Given the description of an element on the screen output the (x, y) to click on. 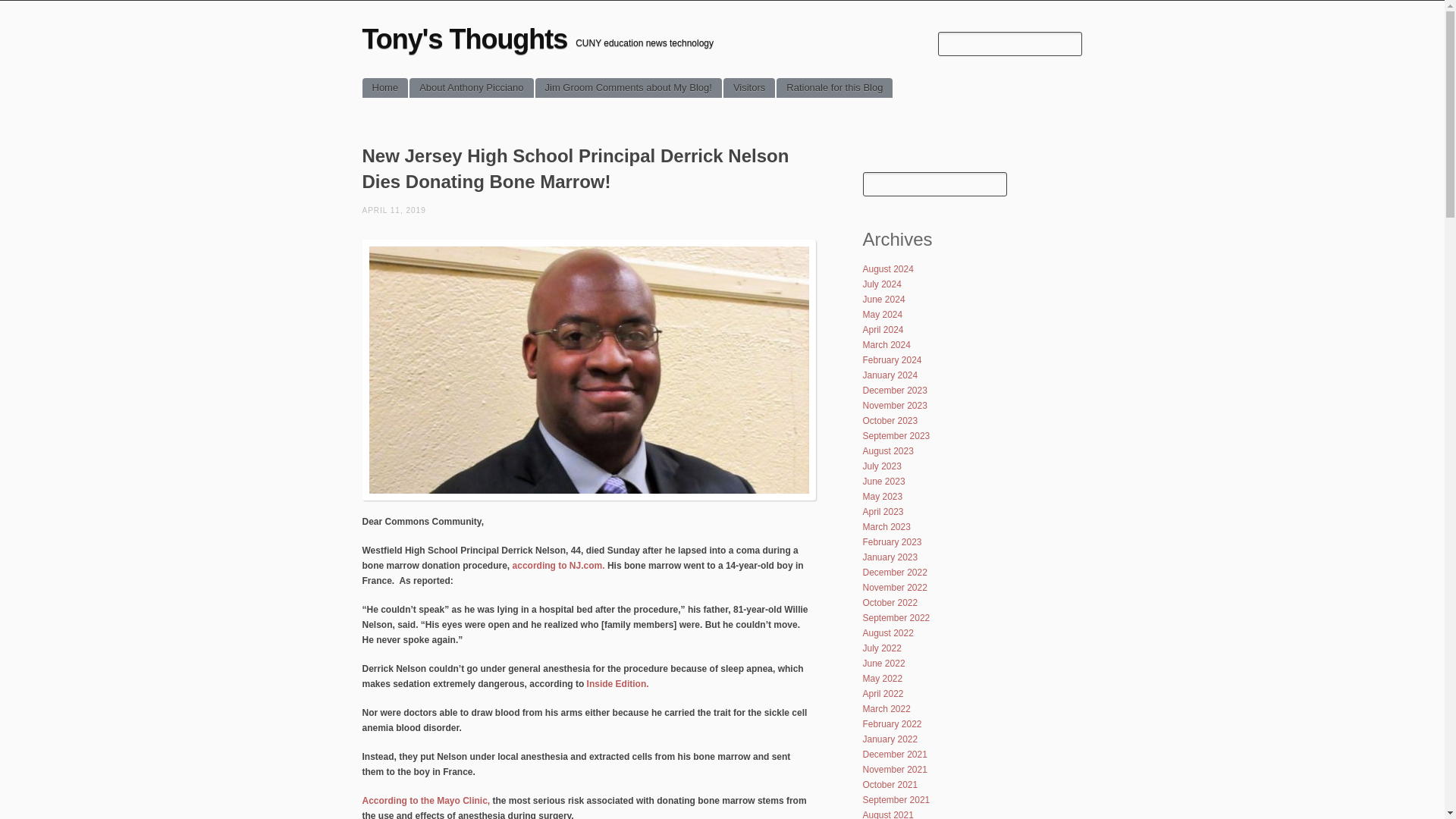
5:21 am (394, 210)
February 2024 (892, 359)
April 2023 (883, 511)
July 2023 (882, 466)
October 2023 (890, 420)
December 2023 (895, 389)
March 2024 (887, 344)
Inside Edition. (617, 683)
September 2023 (896, 435)
August 2023 (888, 450)
April 2024 (883, 329)
January 2024 (890, 375)
May 2024 (882, 314)
About Anthony Picciano (470, 87)
Tony's Thoughts (464, 38)
